Given the description of an element on the screen output the (x, y) to click on. 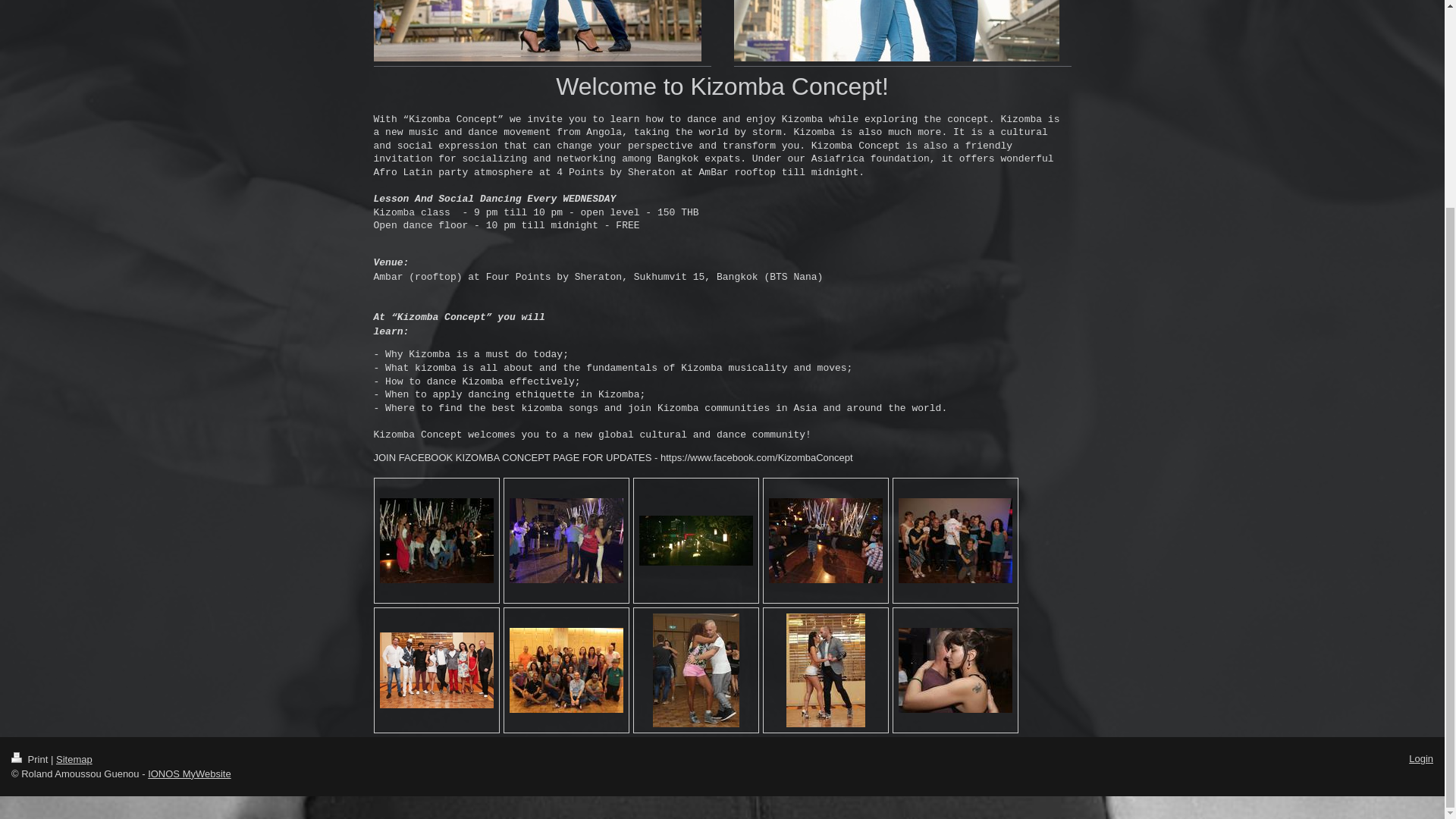
Login (1420, 758)
IONOS MyWebsite (189, 773)
Print (30, 758)
Sitemap (74, 758)
